Given the description of an element on the screen output the (x, y) to click on. 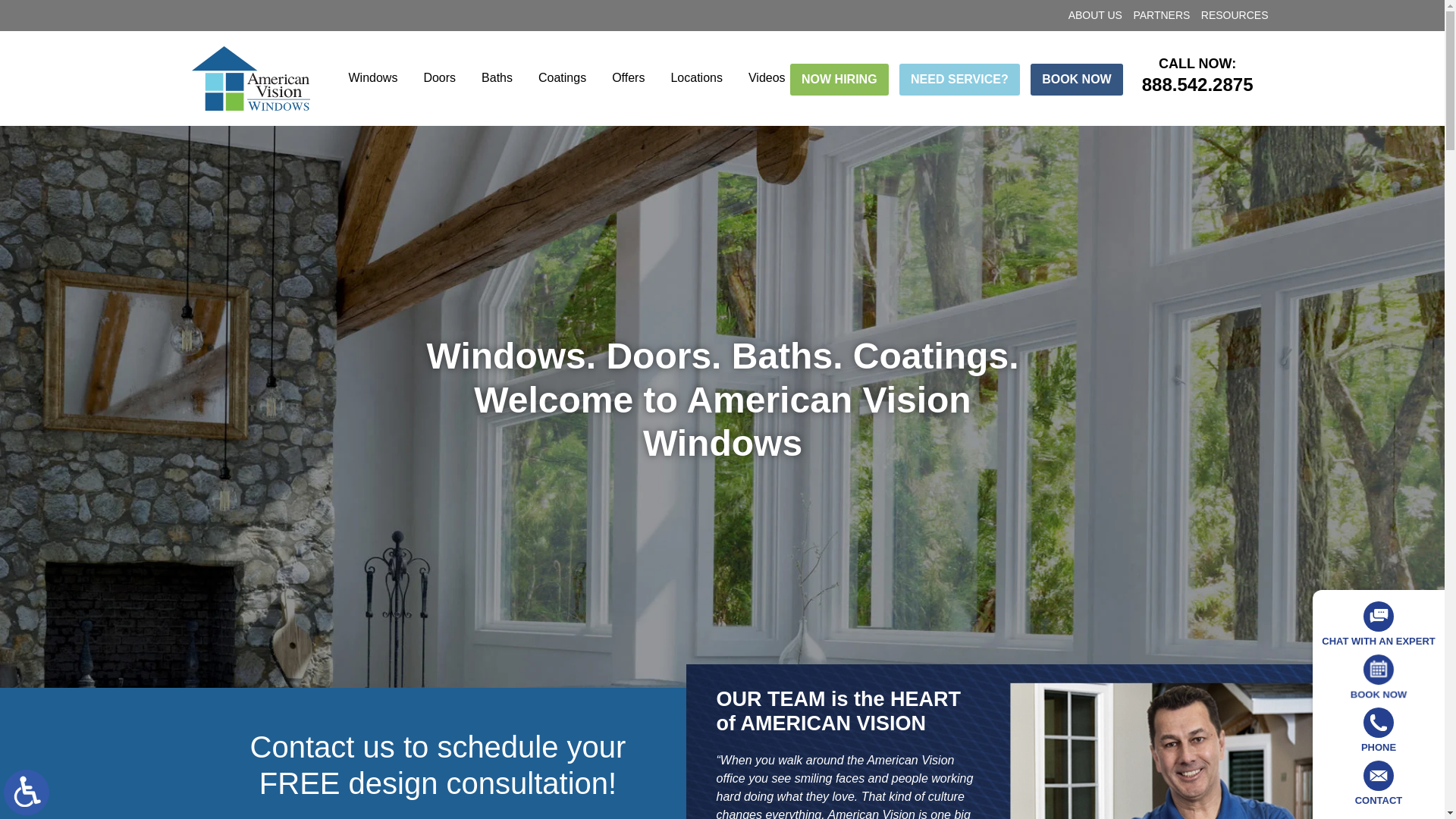
Windows (372, 77)
Switch to ADA Accessible Theme (26, 791)
ABOUT US (1095, 15)
Coatings (561, 77)
Offers (628, 77)
BOOK NOW (1076, 79)
NEED SERVICE? (959, 79)
PARTNERS (1160, 15)
Baths (496, 77)
Locations (696, 77)
888.542.2875 (1197, 84)
NOW HIRING (839, 79)
RESOURCES (1234, 15)
Doors (439, 77)
